Given the description of an element on the screen output the (x, y) to click on. 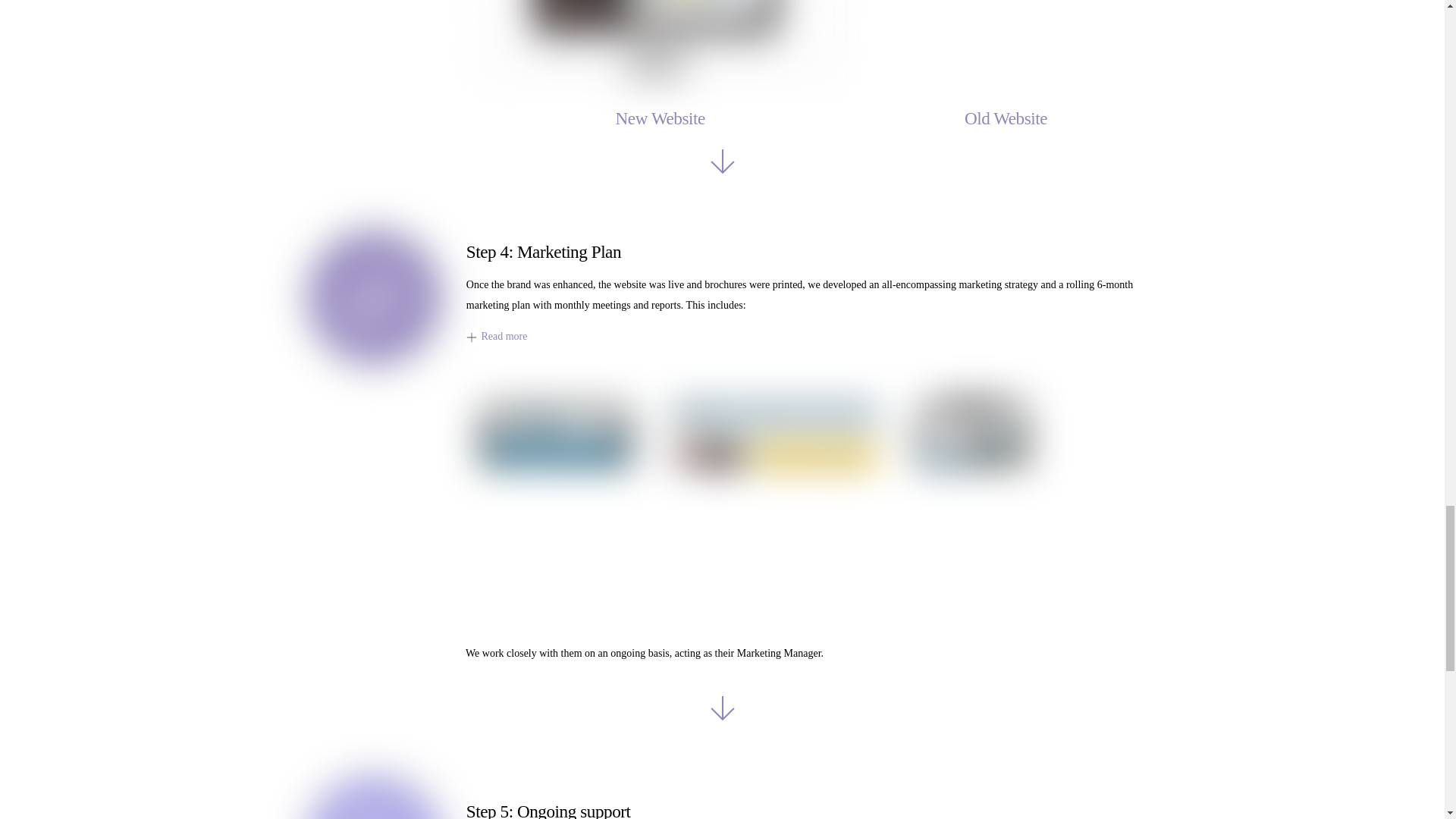
WWCWRGIDMcasestudyassets-ezgif.com-video-to-gif-converter (660, 43)
old-wrg (1005, 43)
support (373, 785)
